Given the description of an element on the screen output the (x, y) to click on. 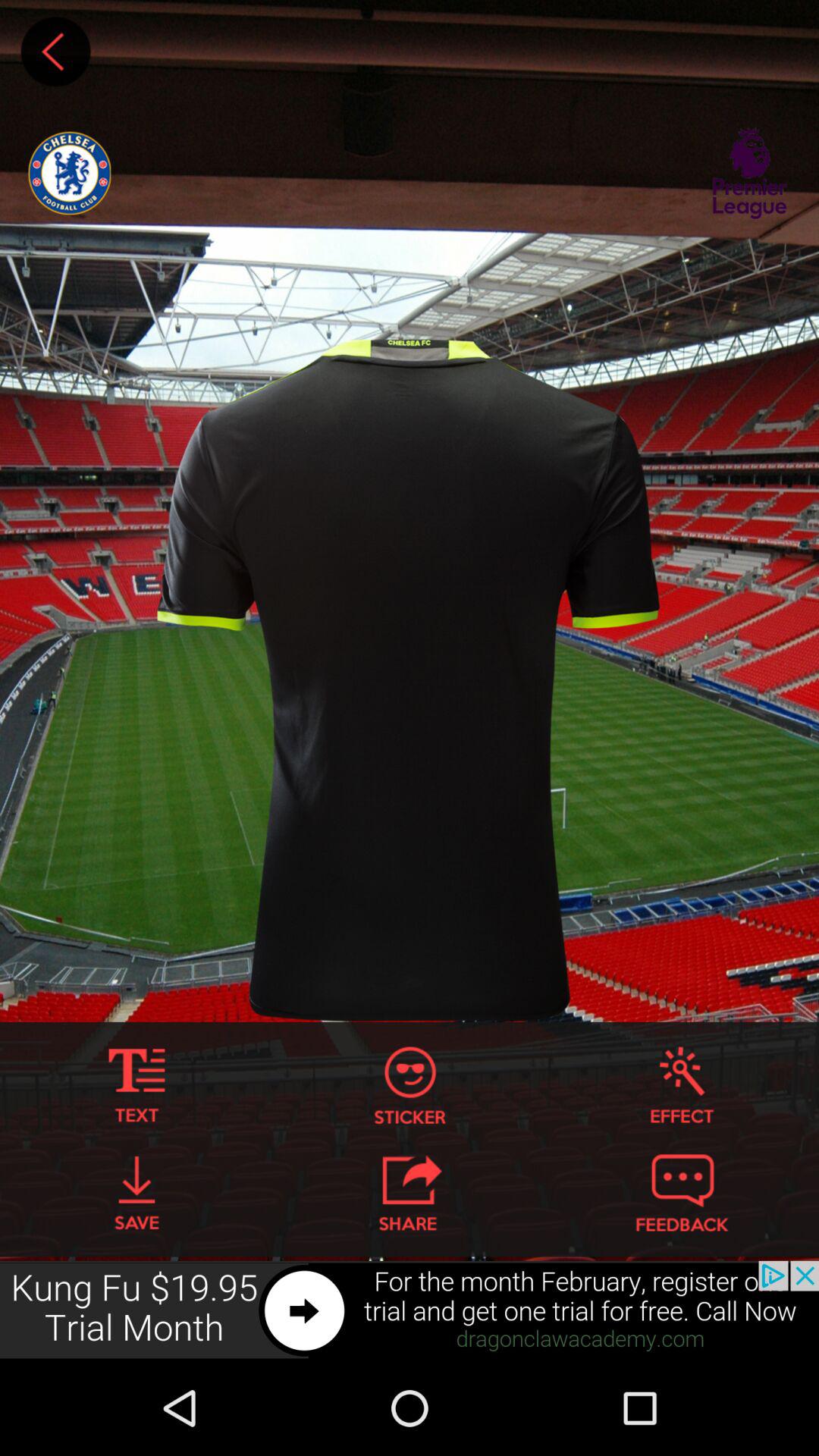
feedback button (682, 1193)
